Given the description of an element on the screen output the (x, y) to click on. 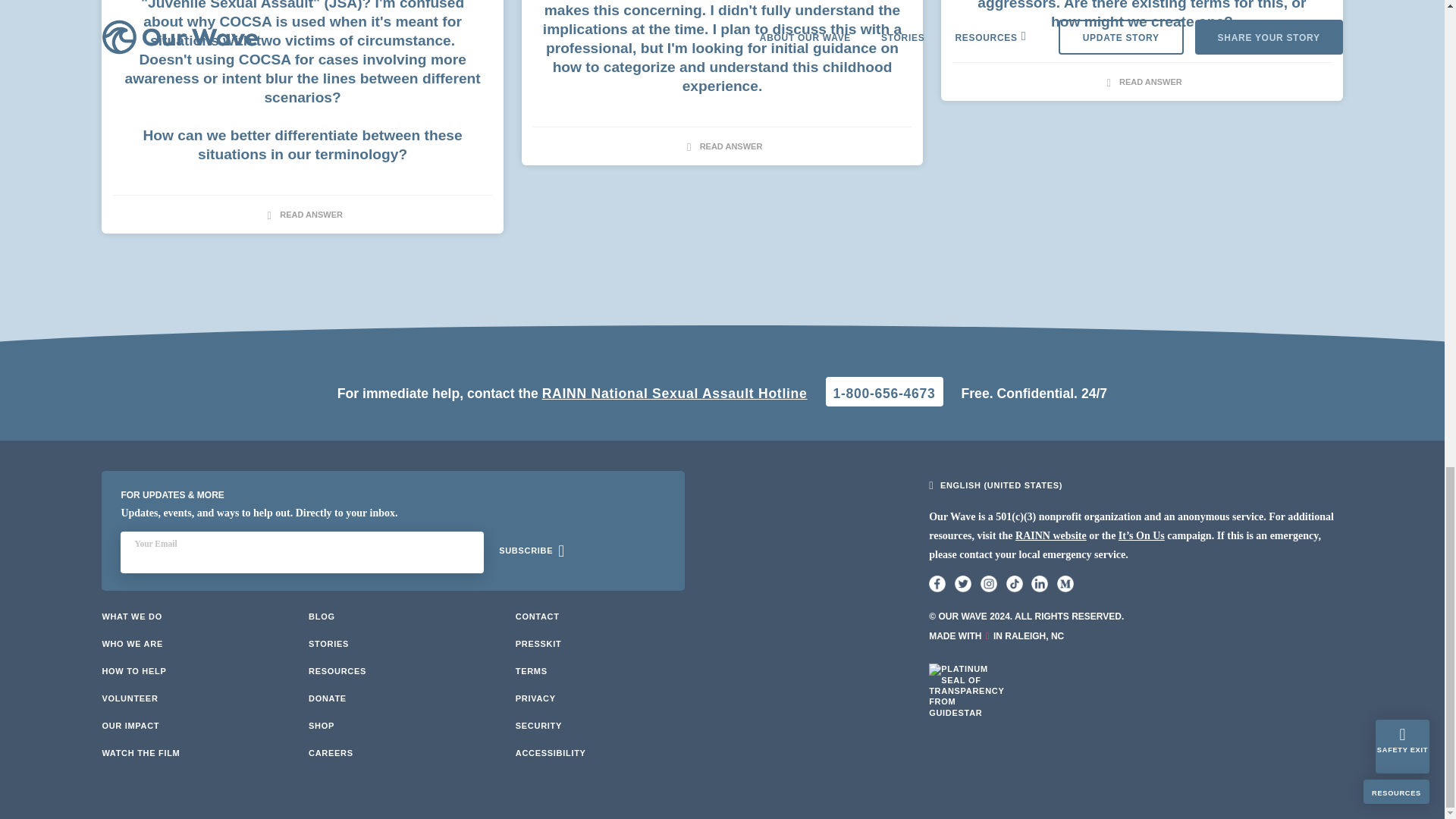
Platinum Seal of Transparency from GuideStar (966, 701)
WATCH THE FILM (140, 752)
Our Wave Instagram (988, 583)
RESOURCES (337, 670)
READ ANSWER (722, 144)
READ ANSWER (1141, 81)
Our Wave Medium (1065, 583)
DONATE (327, 697)
OUR IMPACT (129, 725)
WHAT WE DO (131, 615)
